Given the description of an element on the screen output the (x, y) to click on. 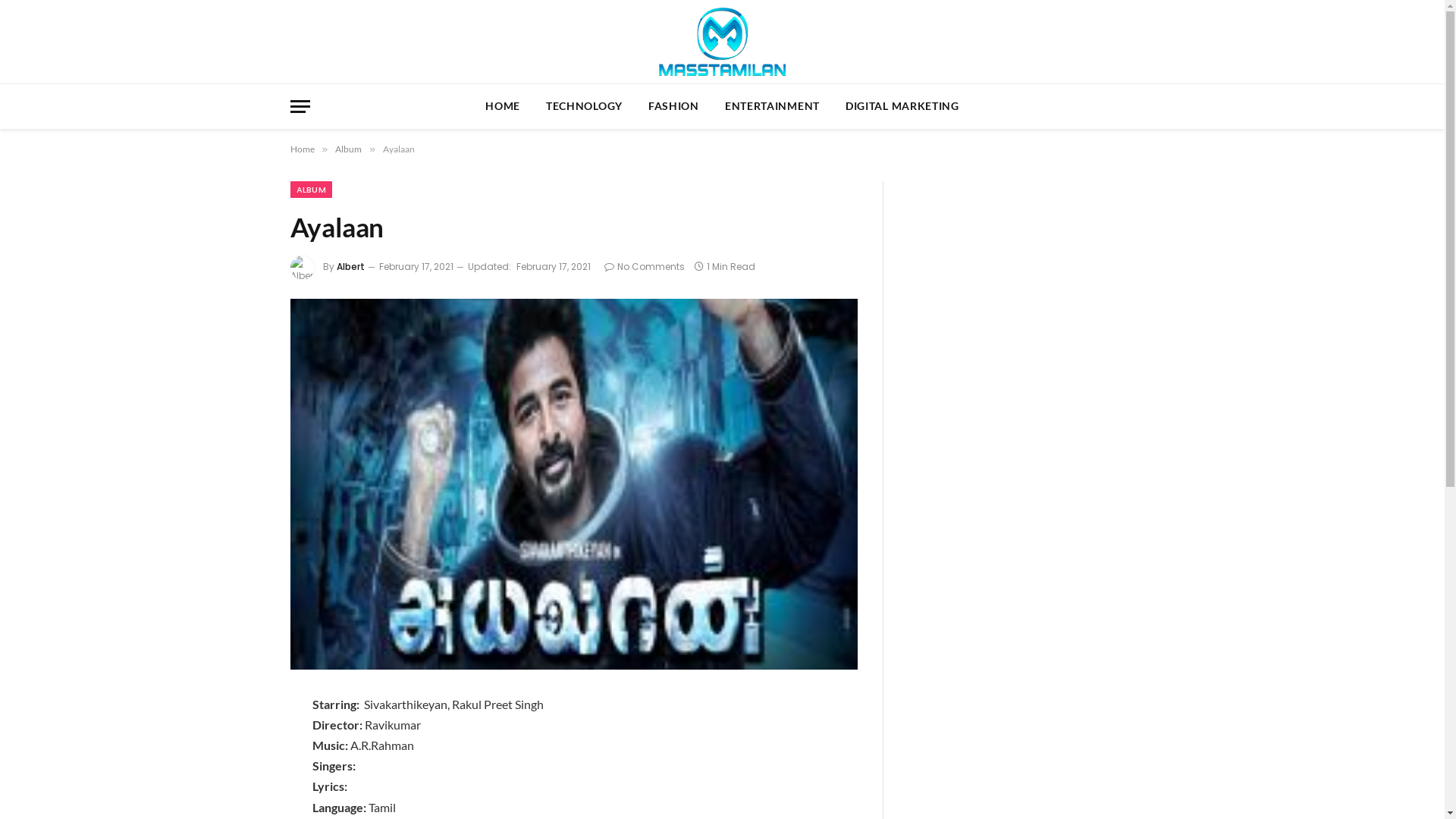
DIGITAL MARKETING Element type: text (902, 106)
Masstamilan Element type: hover (722, 41)
ENTERTAINMENT Element type: text (772, 106)
HOME Element type: text (502, 106)
No Comments Element type: text (643, 266)
Albert Element type: text (350, 266)
TECHNOLOGY Element type: text (584, 106)
ALBUM Element type: text (310, 189)
Album Element type: text (348, 148)
Home Element type: text (301, 148)
FASHION Element type: text (673, 106)
Ayalaan Element type: hover (572, 483)
